Given the description of an element on the screen output the (x, y) to click on. 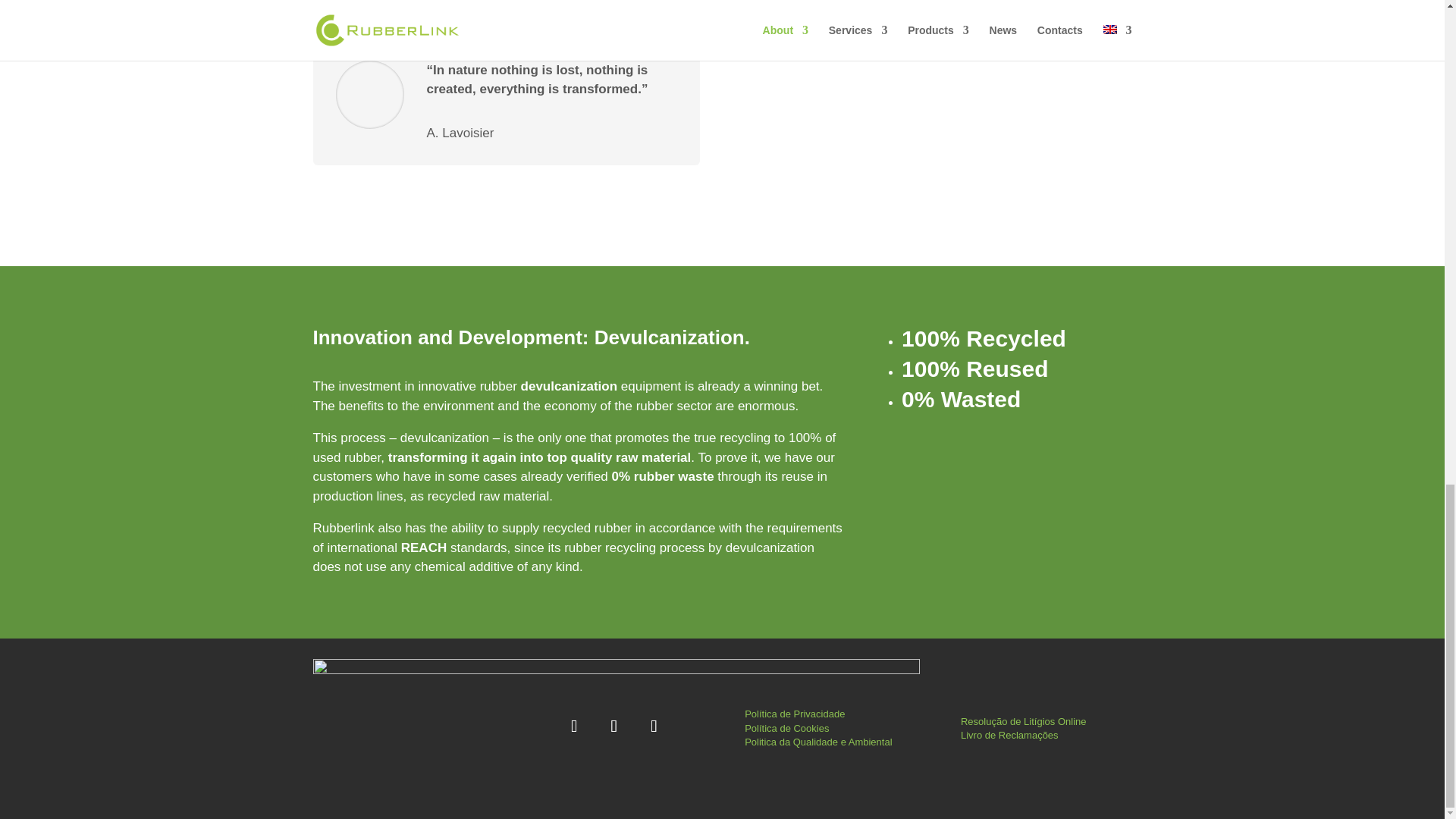
rubberlink-logo-valorizacao-borracha-white (615, 728)
Follow on LinkedIn (575, 726)
Follow on Facebook (654, 726)
Follow on Instagram (614, 726)
Politica da Qualidade e Ambiental (817, 741)
